Given the description of an element on the screen output the (x, y) to click on. 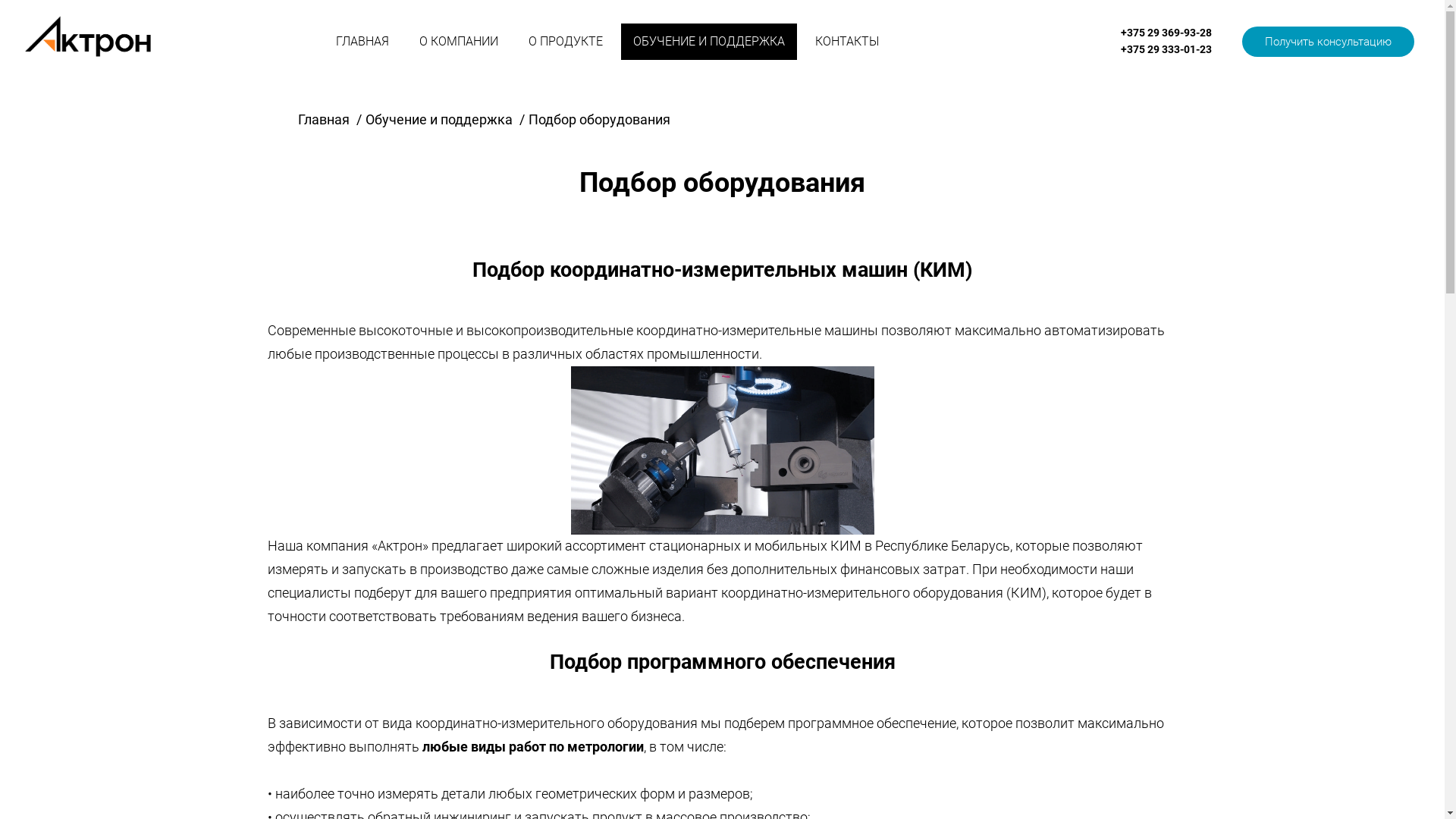
+375 29 369-93-28 Element type: text (1165, 32)
+375 29 333-01-23 Element type: text (1165, 49)
